Given the description of an element on the screen output the (x, y) to click on. 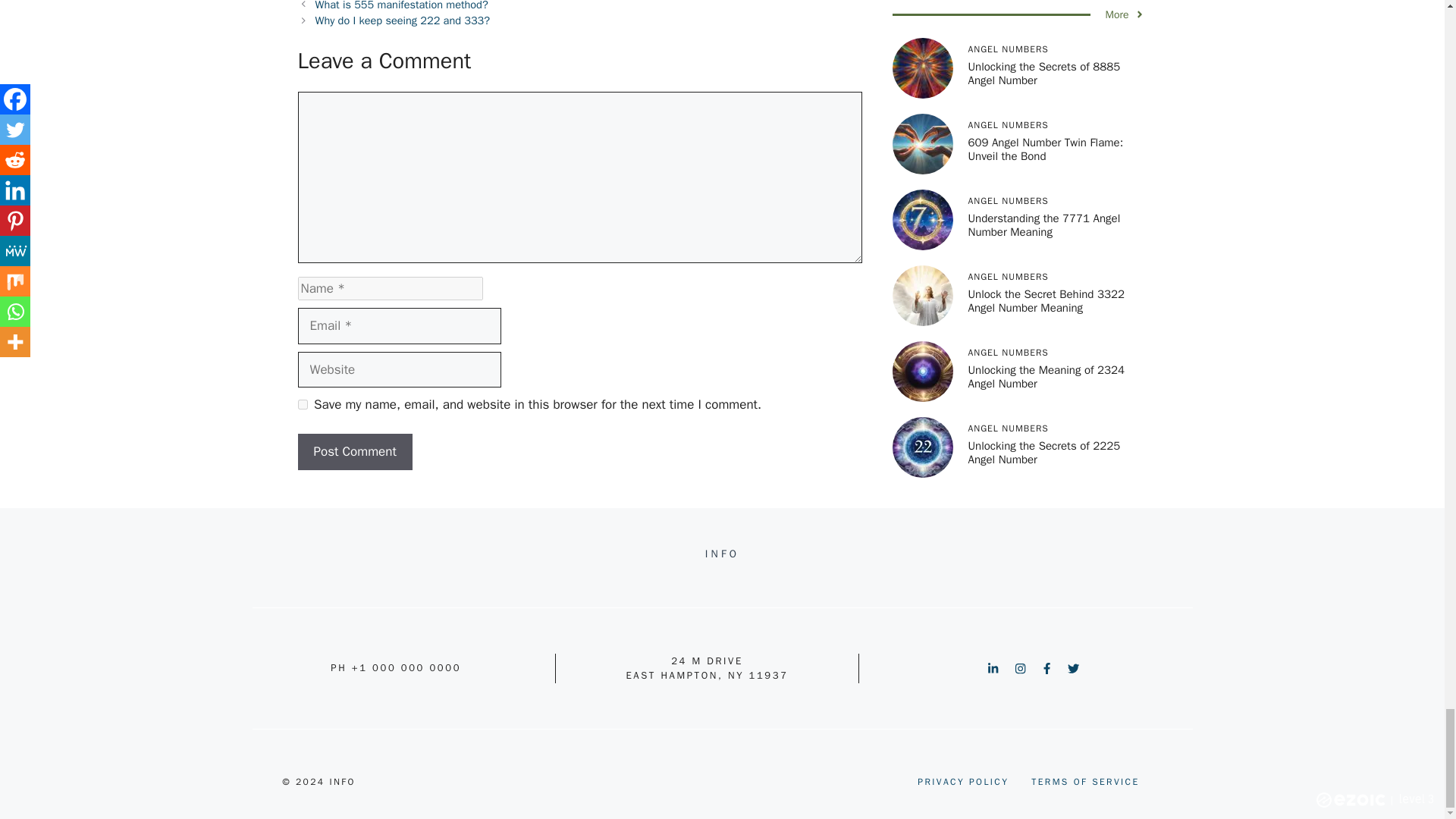
yes (302, 404)
Post Comment (354, 452)
